Given the description of an element on the screen output the (x, y) to click on. 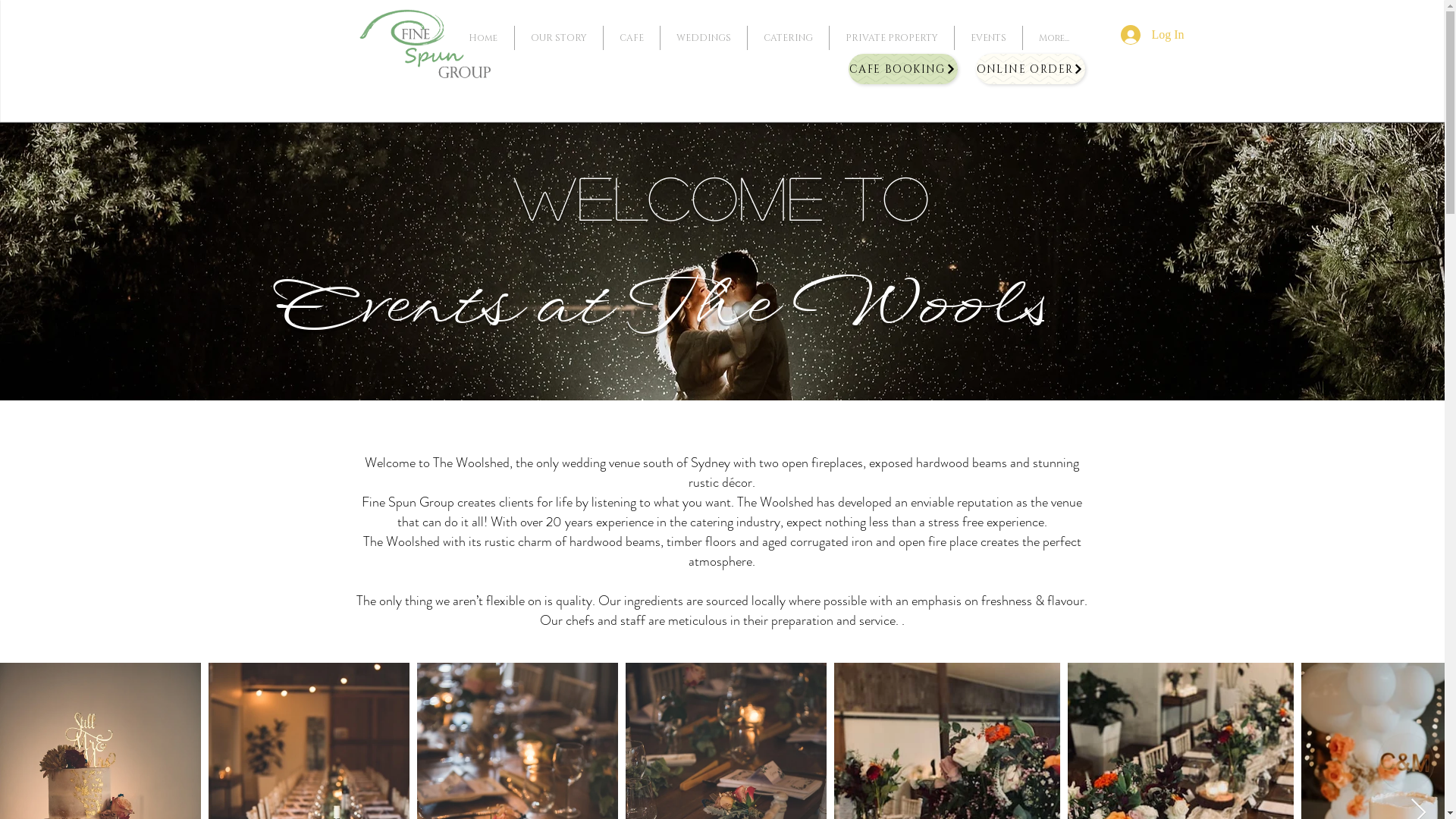
CAFE BOOKING Element type: text (902, 68)
Log In Element type: text (1152, 34)
OUR STORY Element type: text (558, 37)
CAFE Element type: text (630, 37)
PRIVATE PROPERTY Element type: text (890, 37)
ONLINE ORDER Element type: text (1029, 68)
Home Element type: text (482, 37)
